Given the description of an element on the screen output the (x, y) to click on. 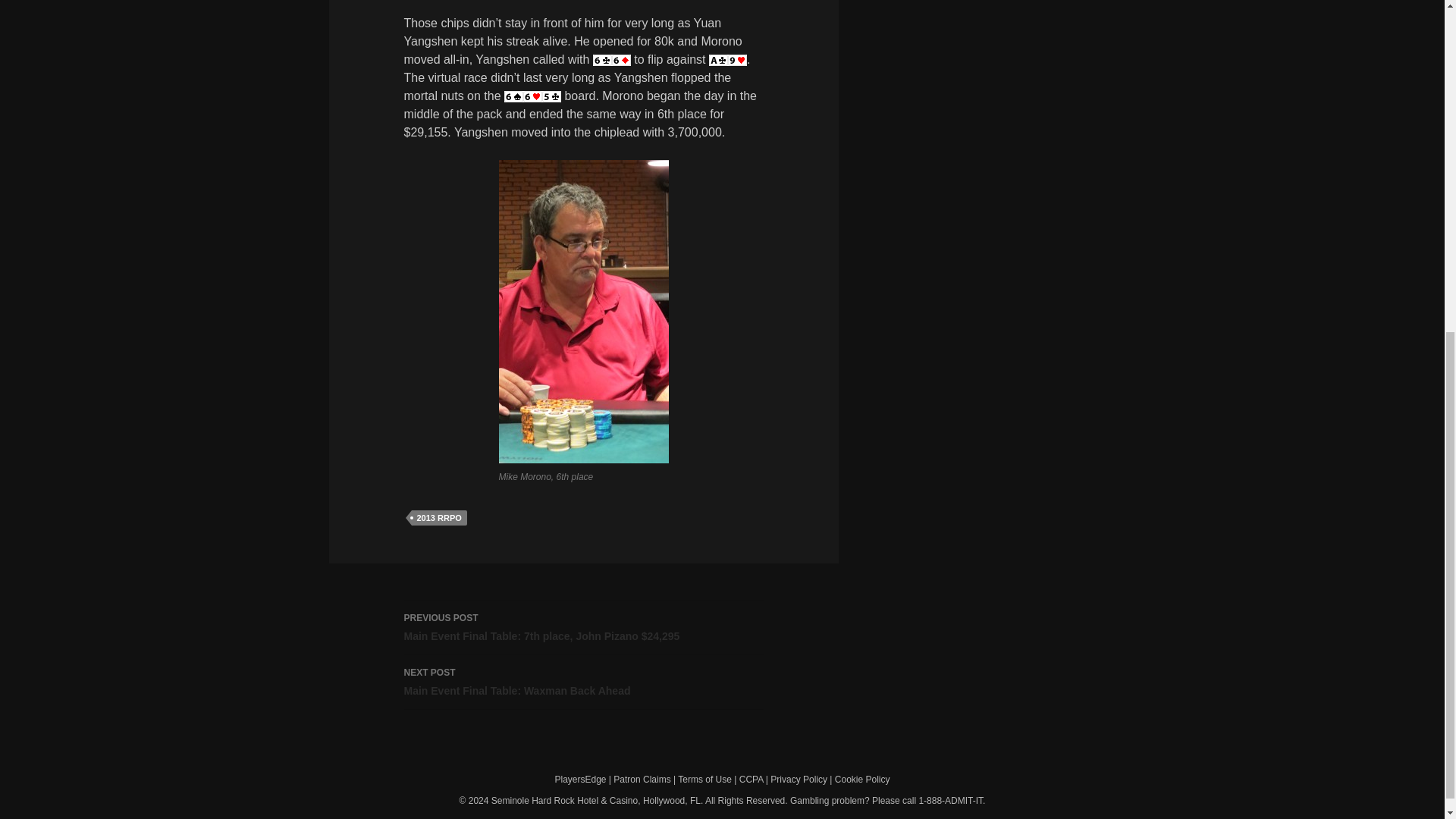
2013 RRPO (582, 682)
